Given the description of an element on the screen output the (x, y) to click on. 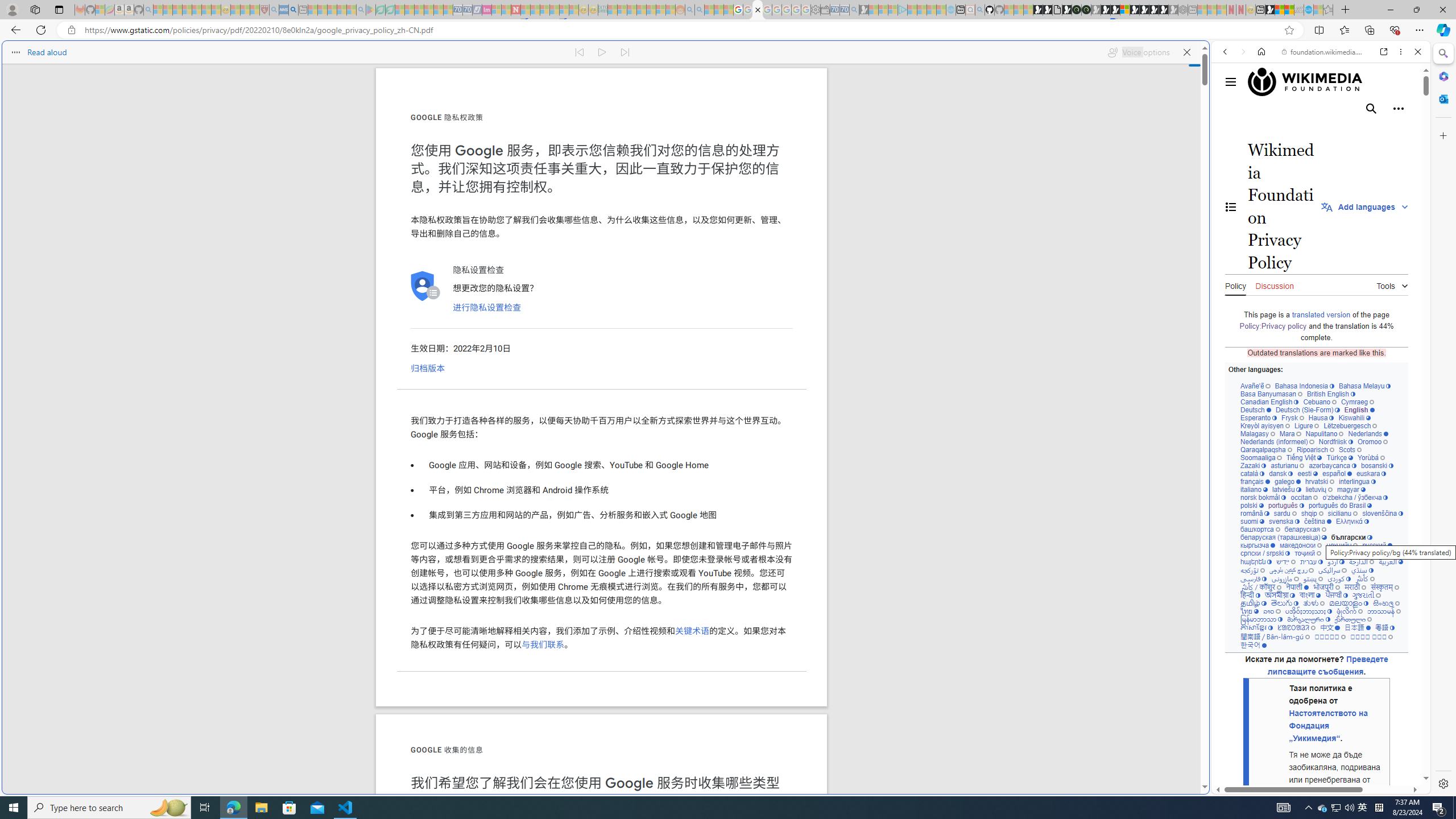
Cebuano (1319, 401)
